Given the description of an element on the screen output the (x, y) to click on. 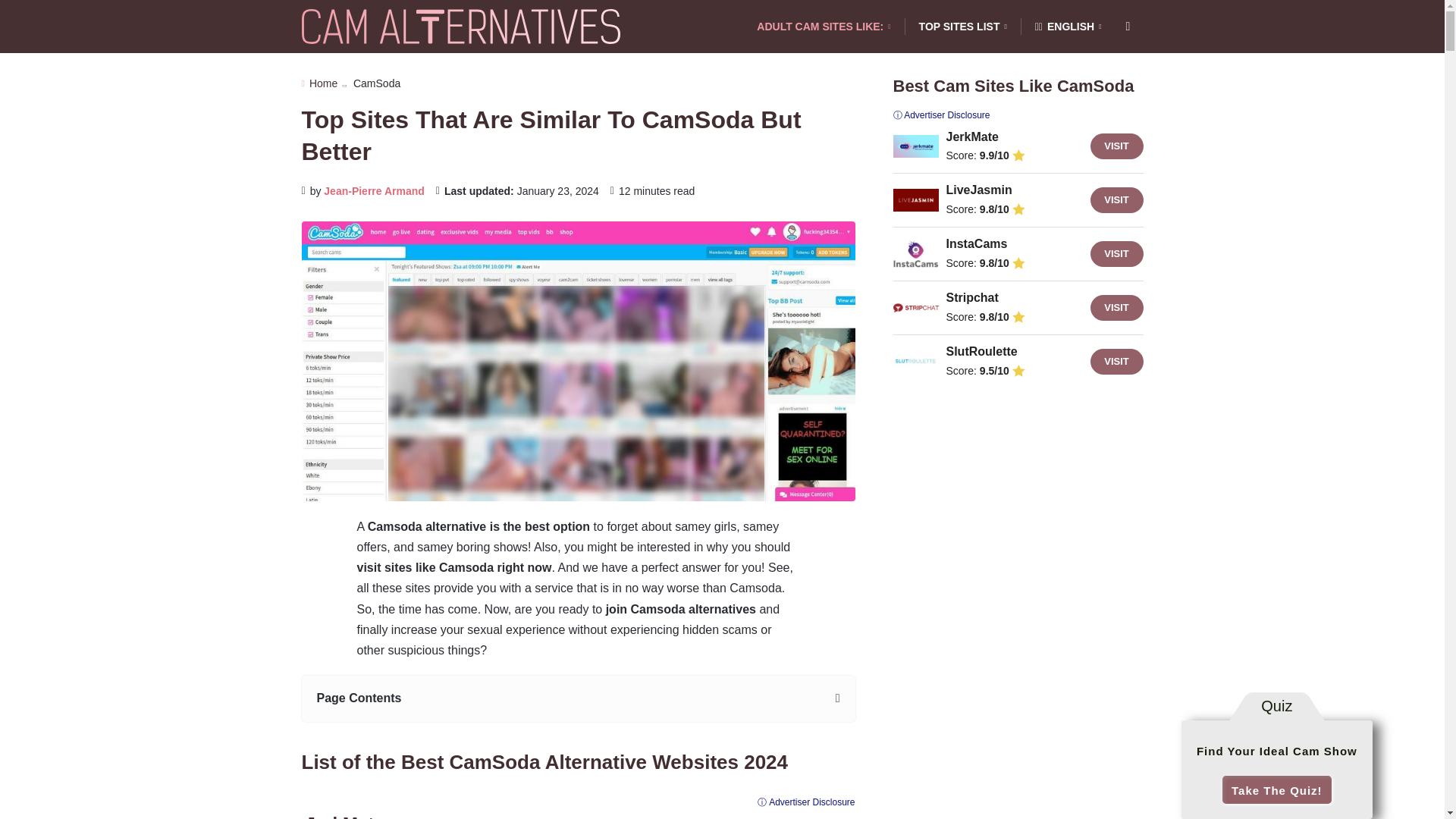
English (1068, 26)
Posts by Jean-Pierre Armand (374, 191)
Camalternatives (460, 27)
